Given the description of an element on the screen output the (x, y) to click on. 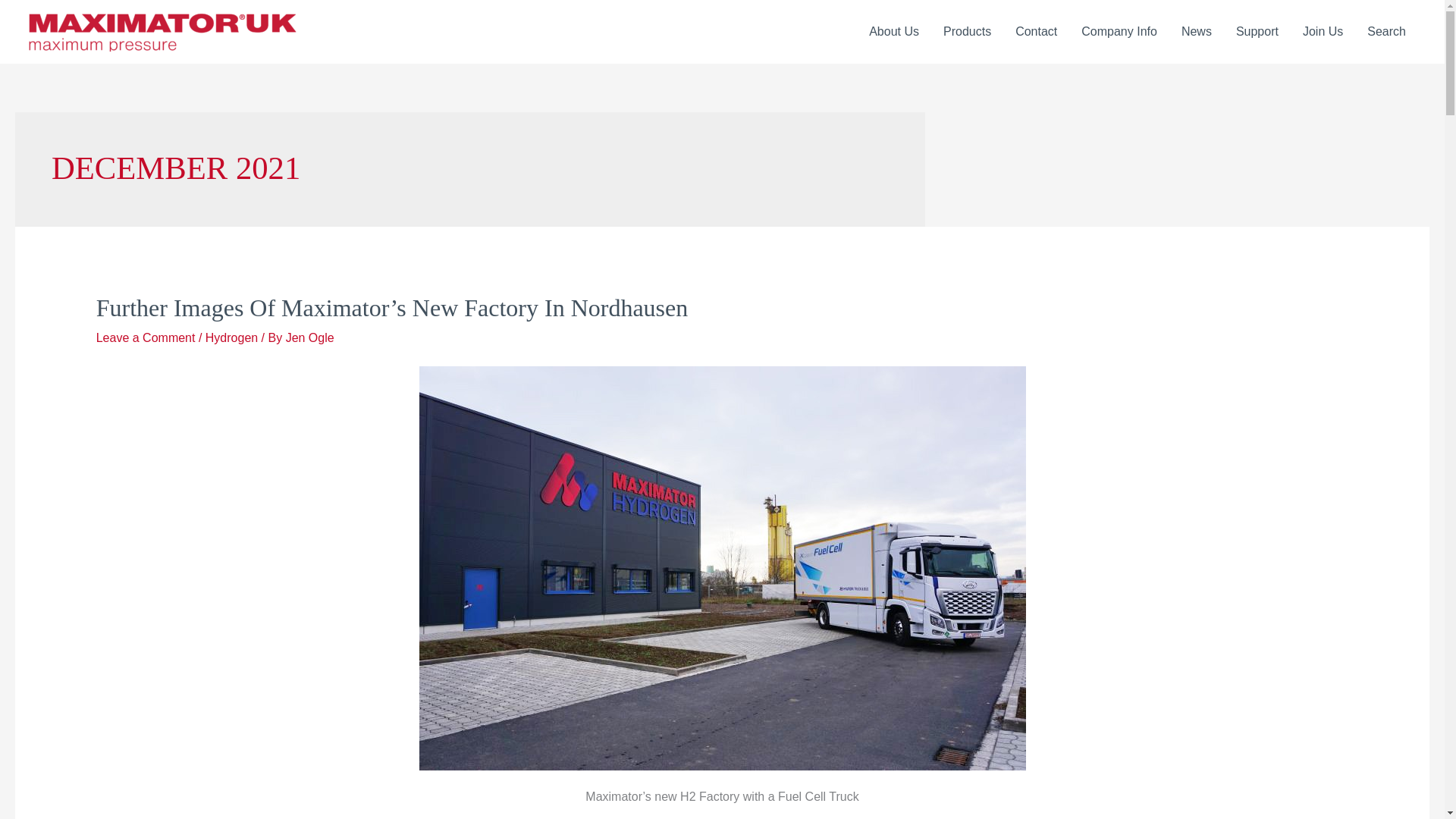
Contact (1035, 31)
Leave a Comment (145, 337)
View all posts by Jen Ogle (309, 337)
Support (1257, 31)
About Us (894, 31)
Search (1386, 31)
Join Us (1322, 31)
Jen Ogle (309, 337)
News (1196, 31)
Products (967, 31)
